Given the description of an element on the screen output the (x, y) to click on. 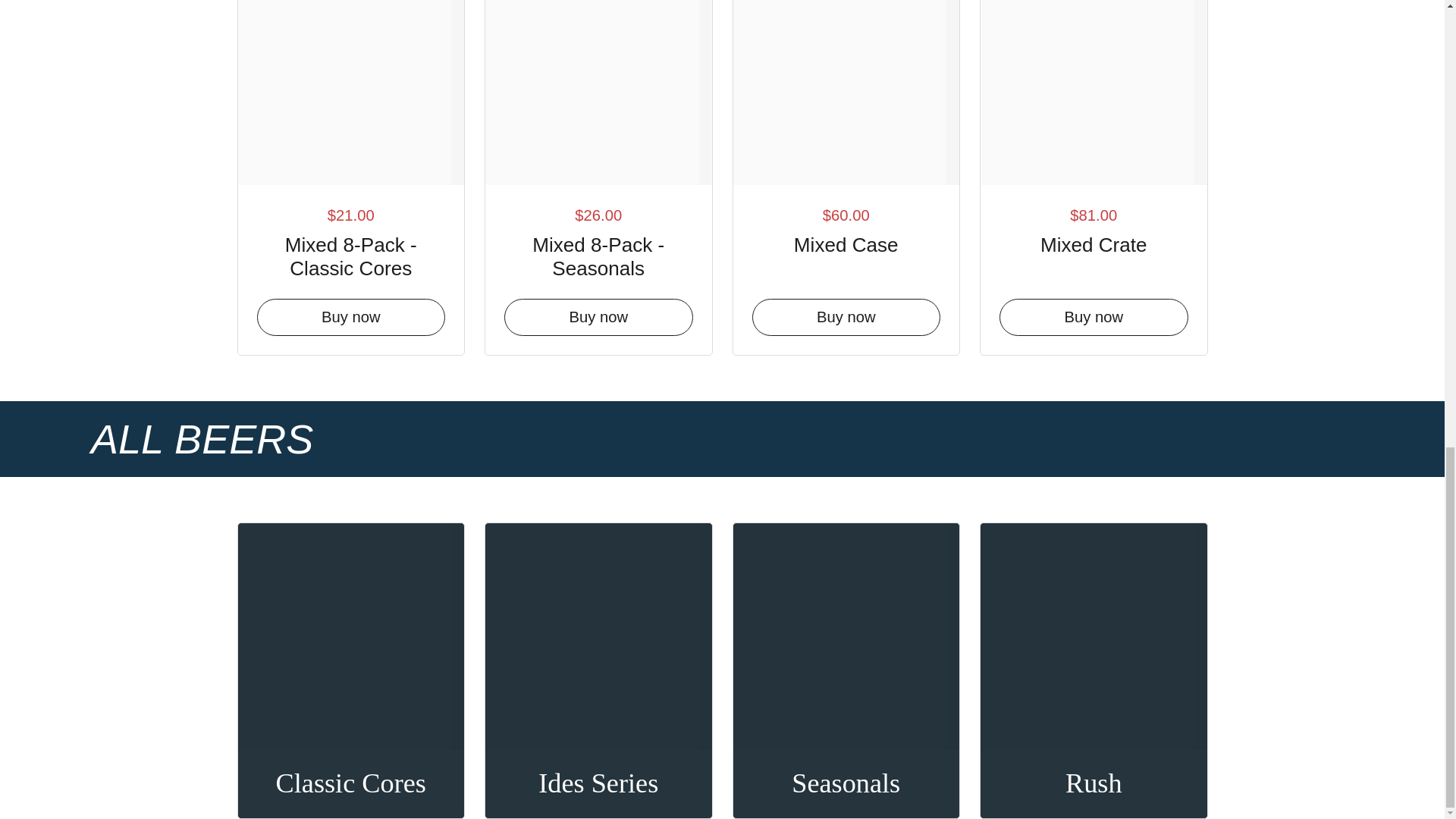
Mixed Crate (1094, 242)
Mixed Case (845, 242)
Mixed 8-Pack - Seasonals (598, 253)
Mixed 8-Pack - Classic Cores (350, 253)
ALL BEERS (202, 439)
